Given the description of an element on the screen output the (x, y) to click on. 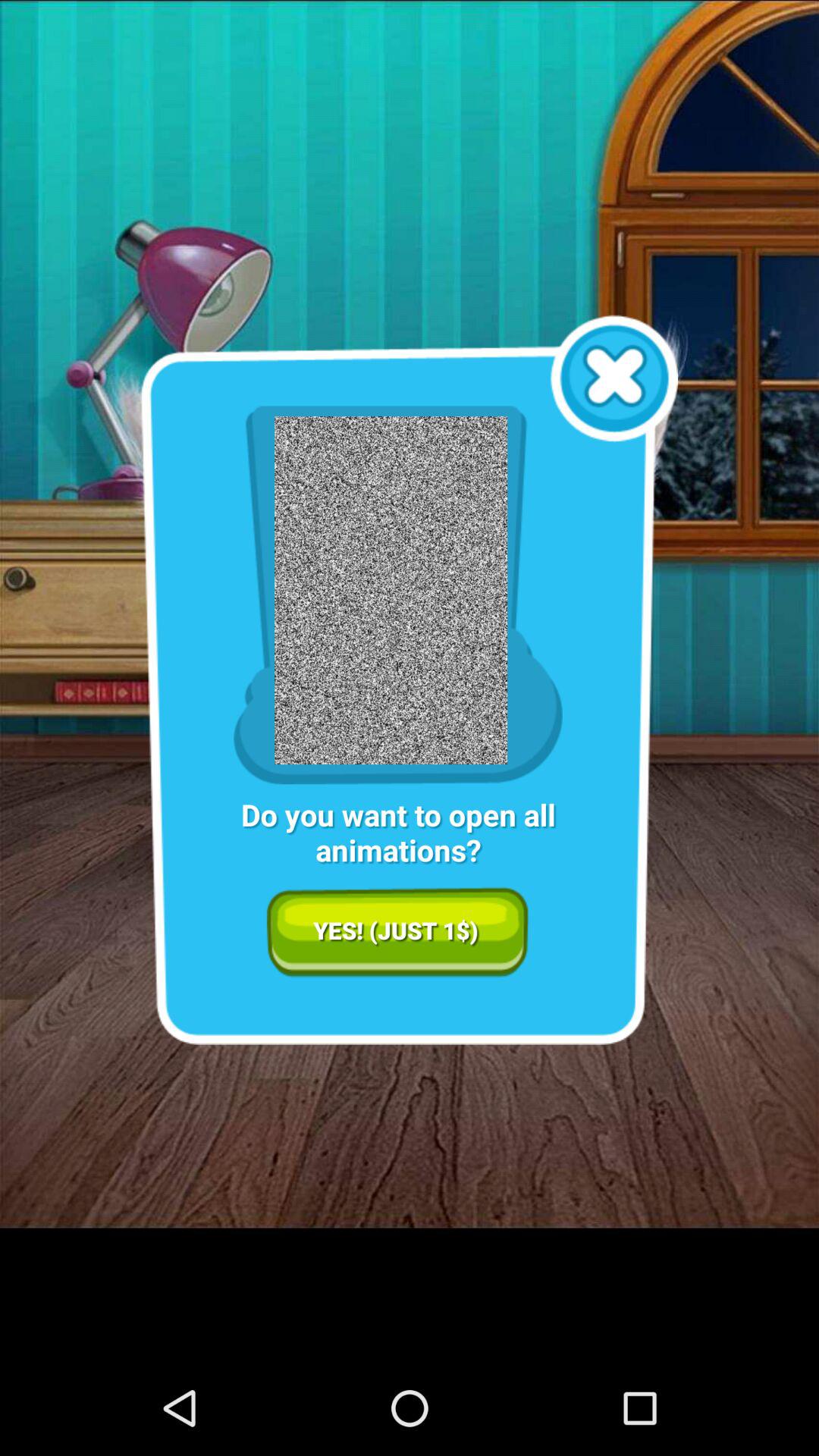
tap the app below do you want item (397, 931)
